Given the description of an element on the screen output the (x, y) to click on. 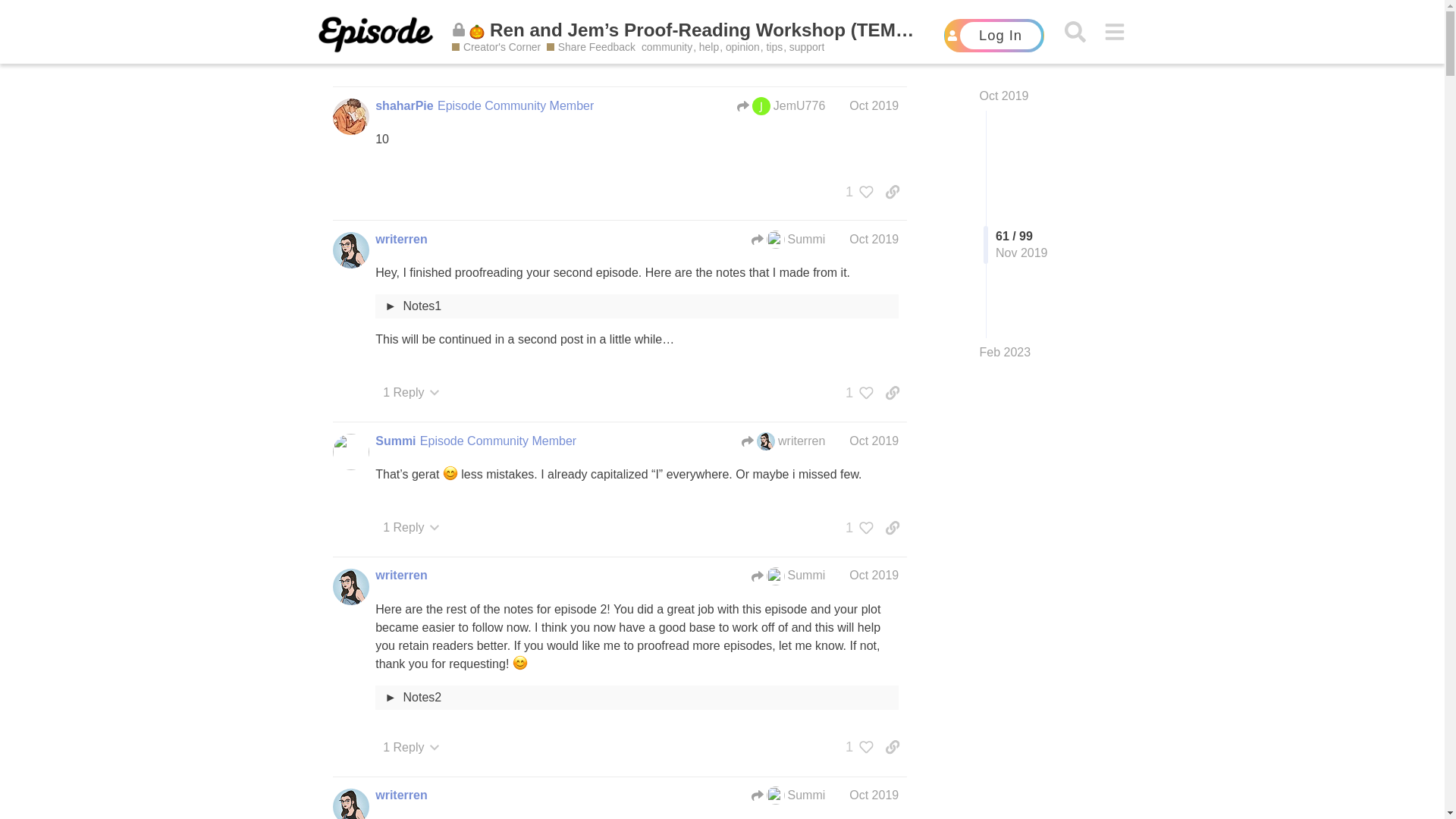
Feb 2023 (1004, 352)
copy a link to this post to clipboard (892, 191)
Search (1074, 32)
JemU776 (780, 106)
Oct 2019 (873, 105)
Creator's Corner (495, 47)
Oct 2019 (1004, 95)
Share Feedback (590, 47)
Post date (873, 105)
Load parent post (788, 239)
1 person liked this post (855, 191)
support (806, 46)
menu (1114, 32)
JemU776 (761, 106)
Jump to the first post (1004, 95)
